Given the description of an element on the screen output the (x, y) to click on. 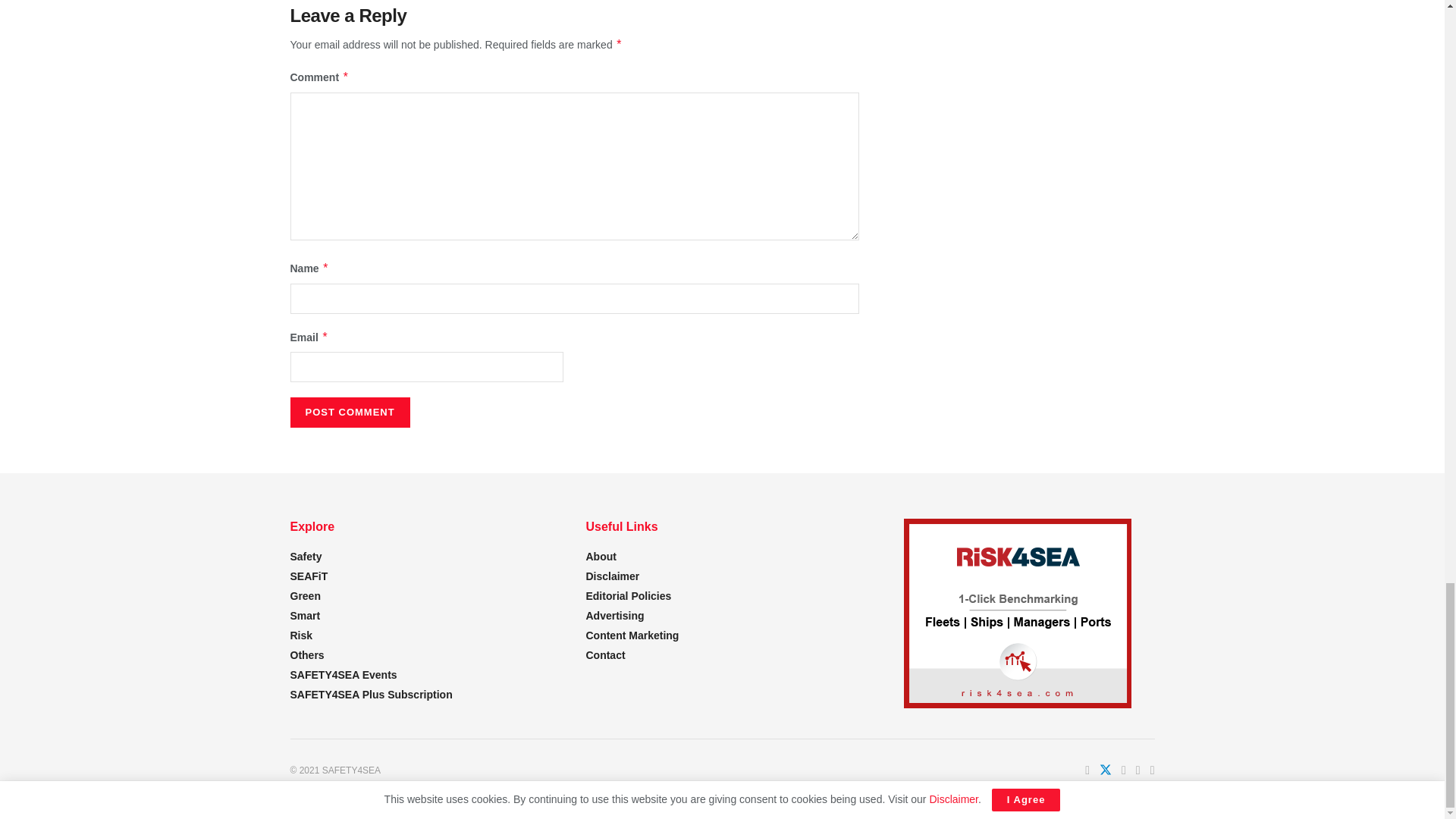
Post Comment (349, 412)
